Given the description of an element on the screen output the (x, y) to click on. 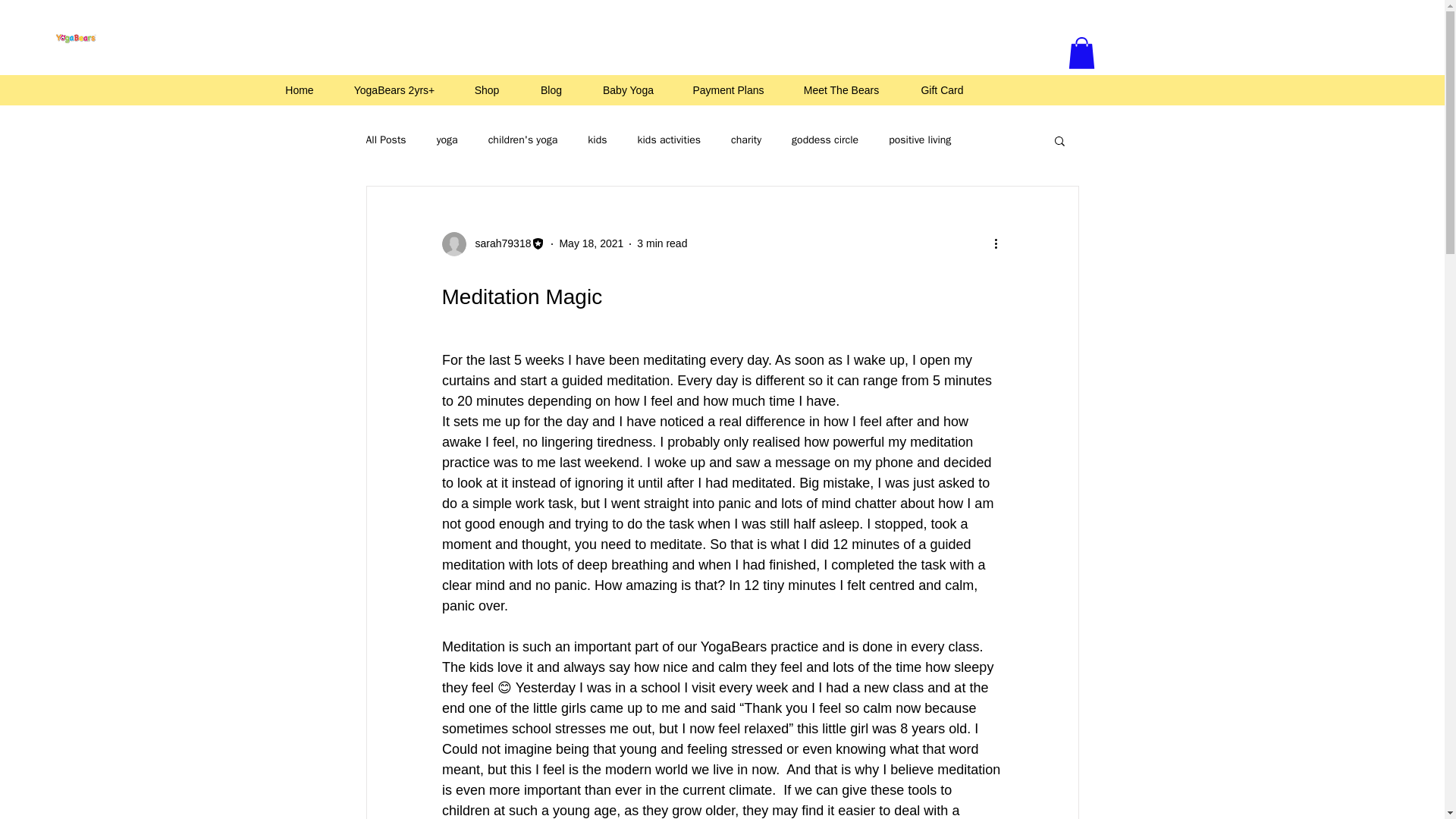
sarah79318 (492, 243)
charity (745, 140)
Shop (485, 89)
Baby Yoga (627, 89)
Meet The Bears (841, 89)
3 min read (662, 243)
yoga (447, 140)
positive living (919, 140)
Blog (550, 89)
Gift Card (941, 89)
children's yoga (522, 140)
sarah79318 (498, 243)
All Posts (385, 140)
May 18, 2021 (591, 243)
Home (298, 89)
